Given the description of an element on the screen output the (x, y) to click on. 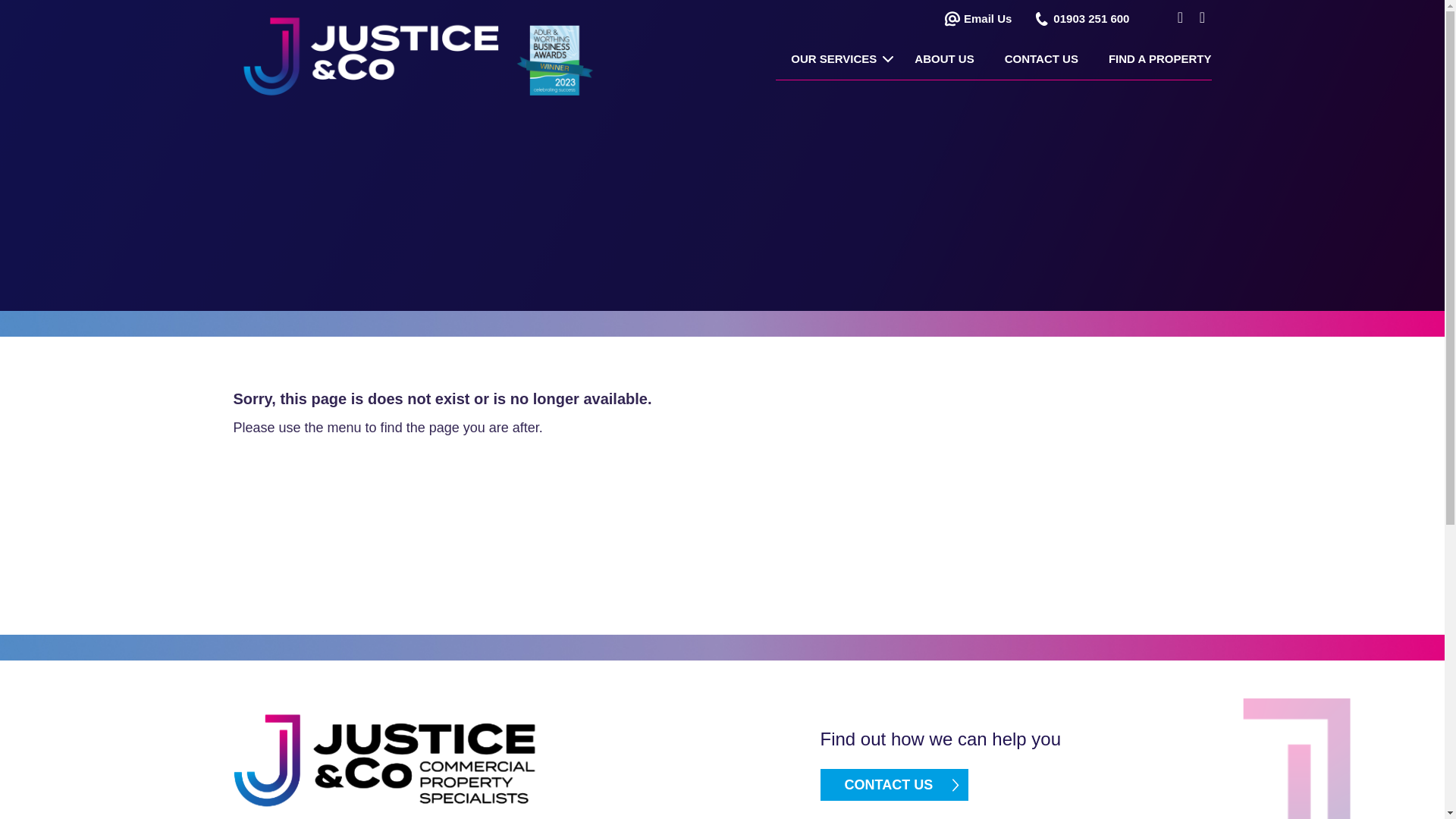
01903 251 600 (1090, 18)
Email Us (987, 18)
CONTACT US (895, 784)
ABOUT US (943, 58)
FIND A PROPERTY (1152, 58)
OUR SERVICES (837, 58)
CONTACT US (1041, 58)
